Given the description of an element on the screen output the (x, y) to click on. 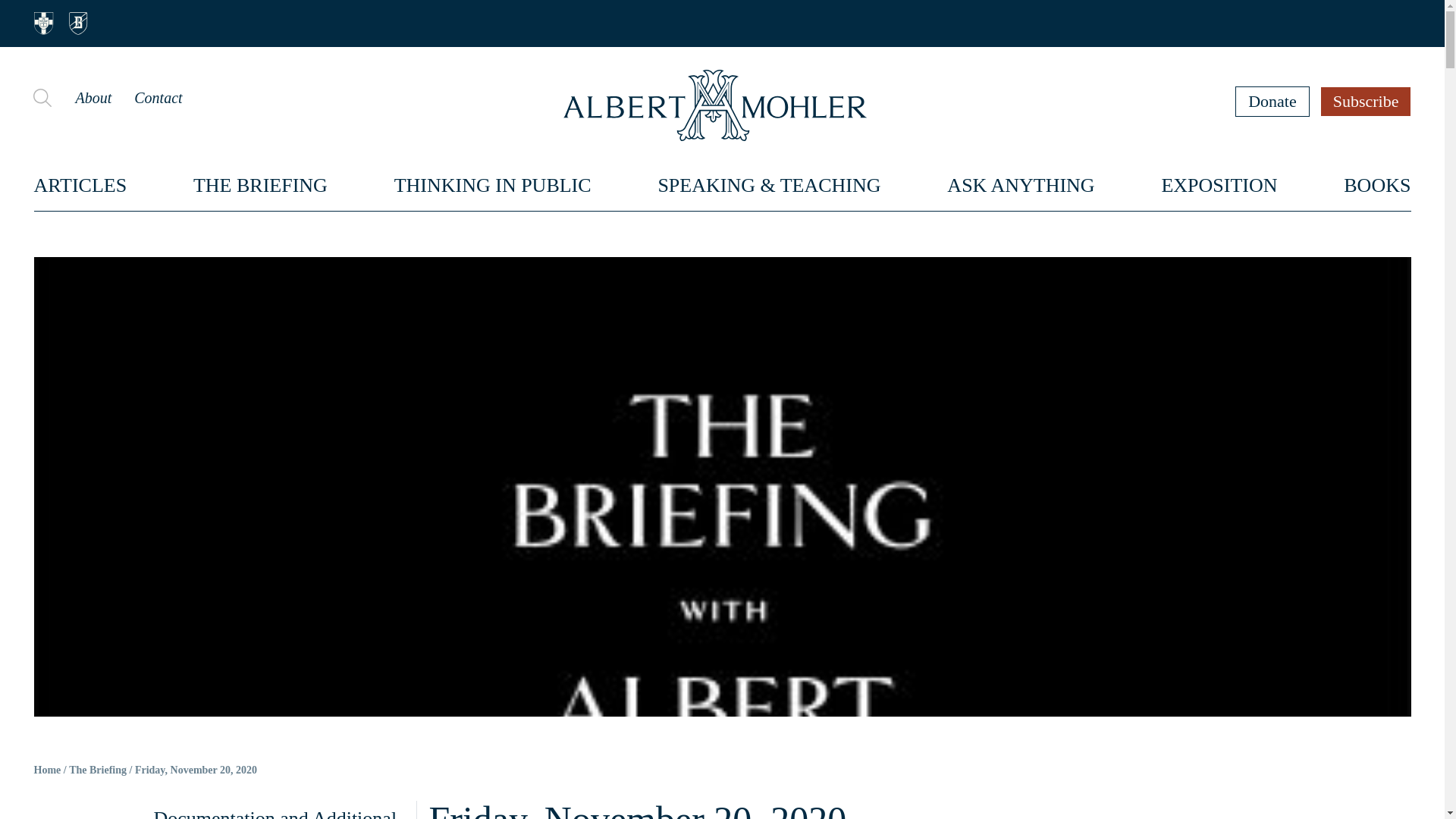
ARTICLES (79, 185)
Home (47, 770)
THE BRIEFING (260, 185)
EXPOSITION (1218, 185)
BOOKS (1376, 185)
The Briefing (97, 770)
ASK ANYTHING (1020, 185)
About (93, 97)
Donate (1272, 101)
Contact (157, 97)
